Given the description of an element on the screen output the (x, y) to click on. 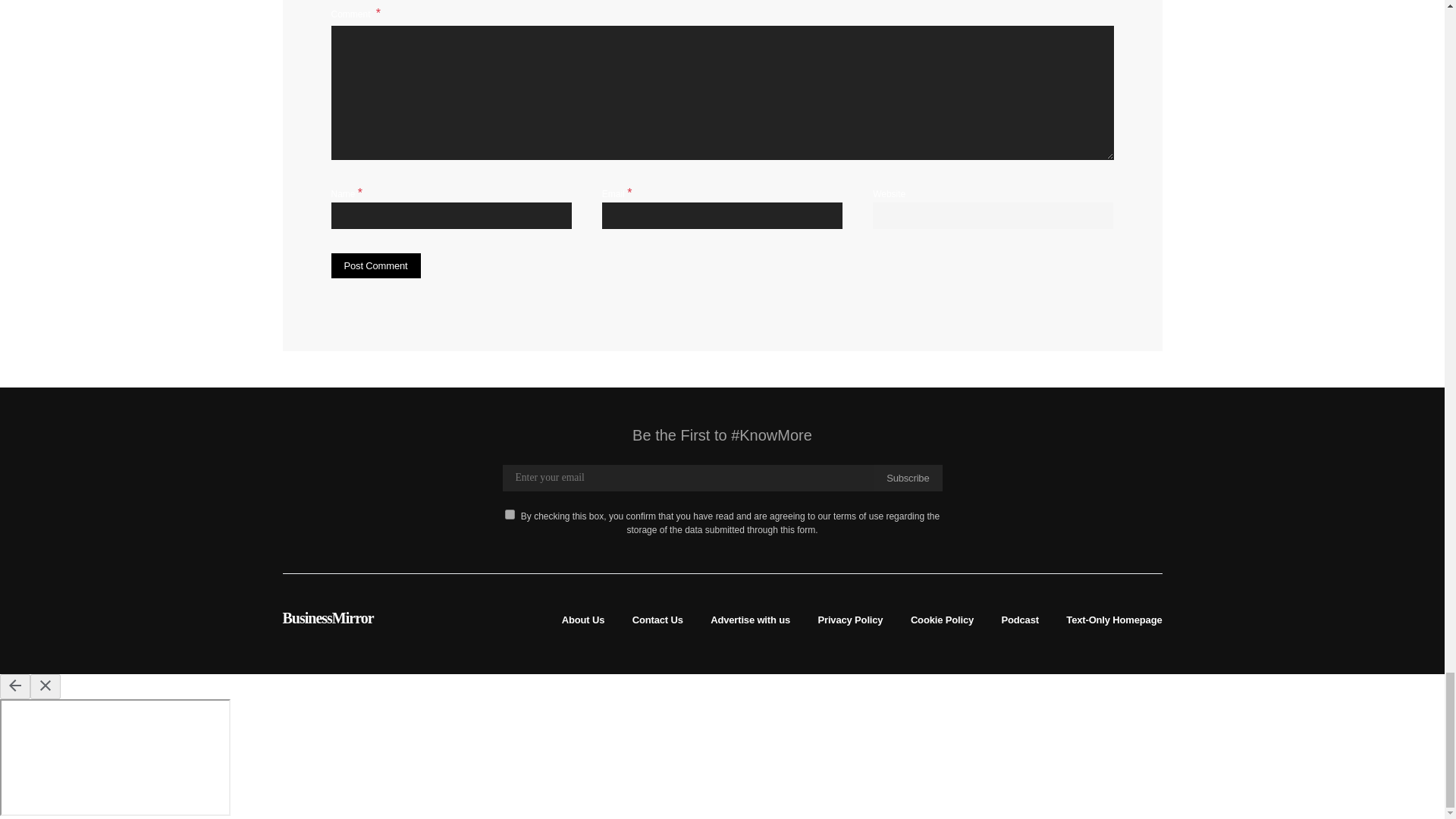
Post Comment (375, 266)
on (510, 514)
